Given the description of an element on the screen output the (x, y) to click on. 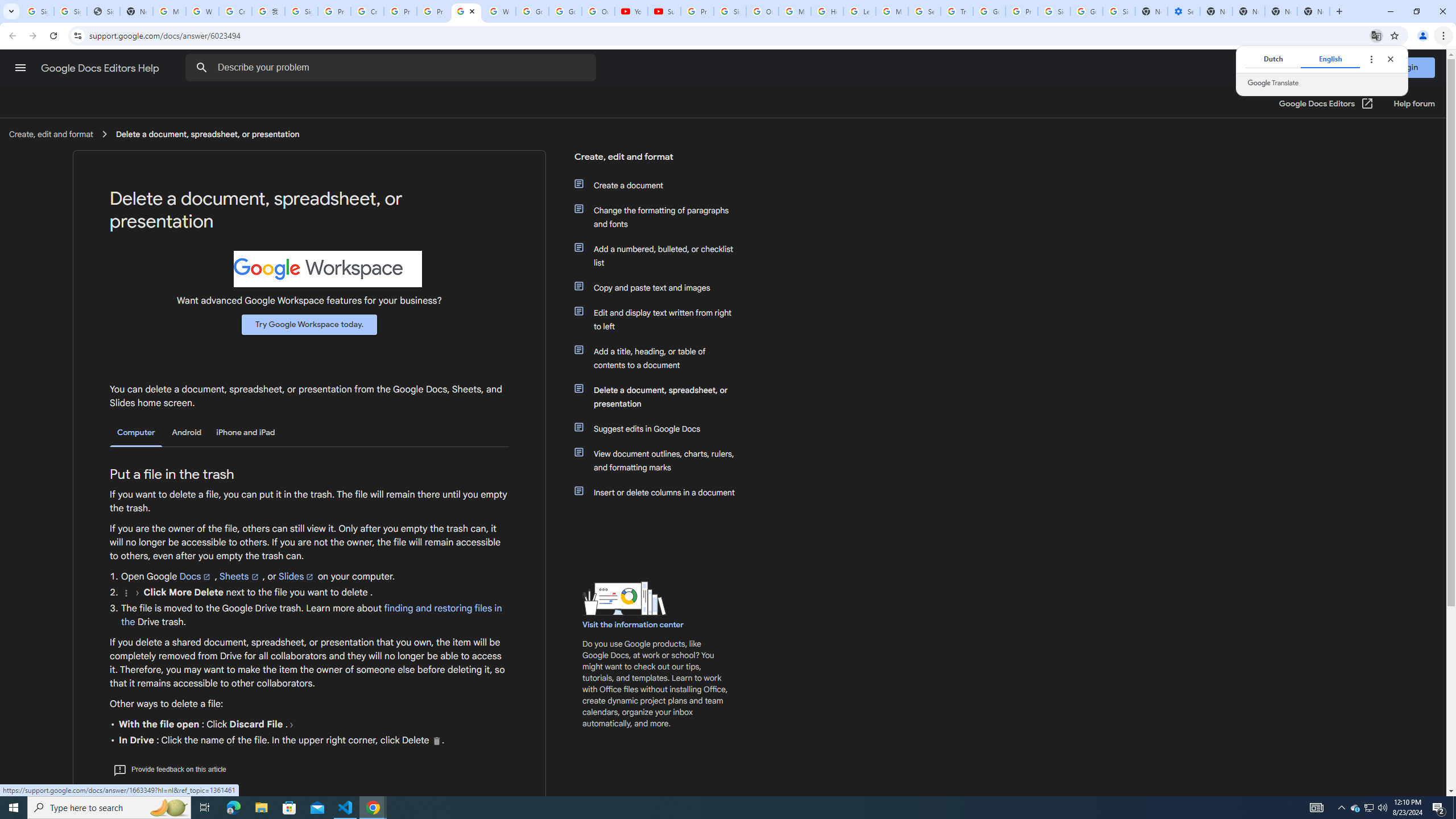
Copy and paste text and images (661, 287)
Describe your problem (391, 67)
Visit the information center (633, 624)
Try Google Workspace today. (309, 324)
Computer (136, 433)
Create your Google Account (367, 11)
Translate this page (1376, 35)
Delete a document, spreadsheet, or presentation (661, 396)
Dutch (1272, 58)
Sign in - Google Accounts (70, 11)
